Given the description of an element on the screen output the (x, y) to click on. 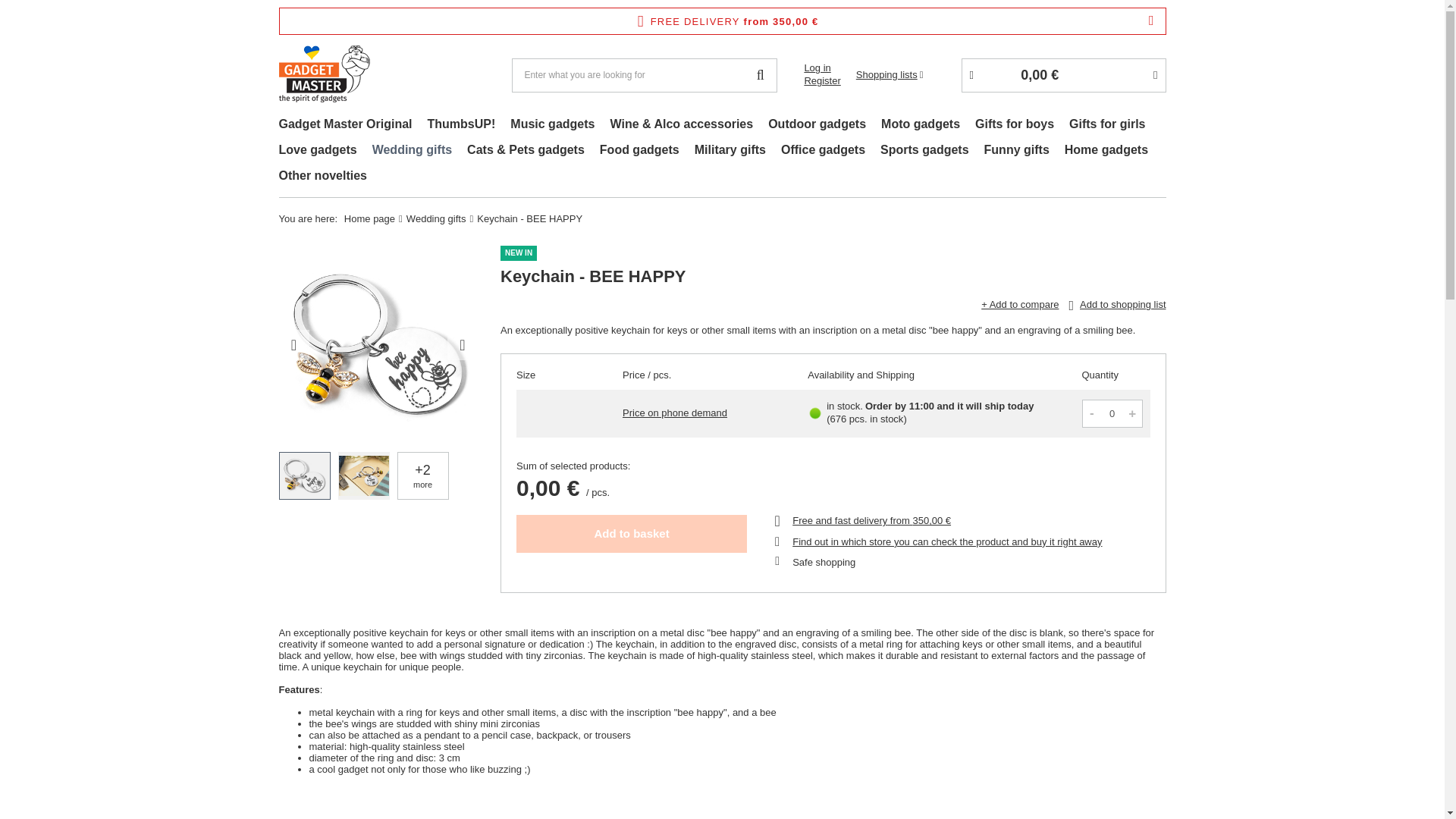
Home gadgets (1106, 151)
Moto gadgets (920, 125)
ThumbsUP! (461, 125)
Military gifts (730, 151)
Military gifts (730, 151)
Outdoor gadgets (816, 125)
Gadget Master Original (345, 125)
Moto gadgets (920, 125)
Gifts for girls (1107, 125)
Sports gadgets (923, 151)
Home page (368, 218)
Wedding gifts (412, 151)
Shopping lists (889, 74)
Register (821, 81)
Wedding gifts (412, 151)
